Given the description of an element on the screen output the (x, y) to click on. 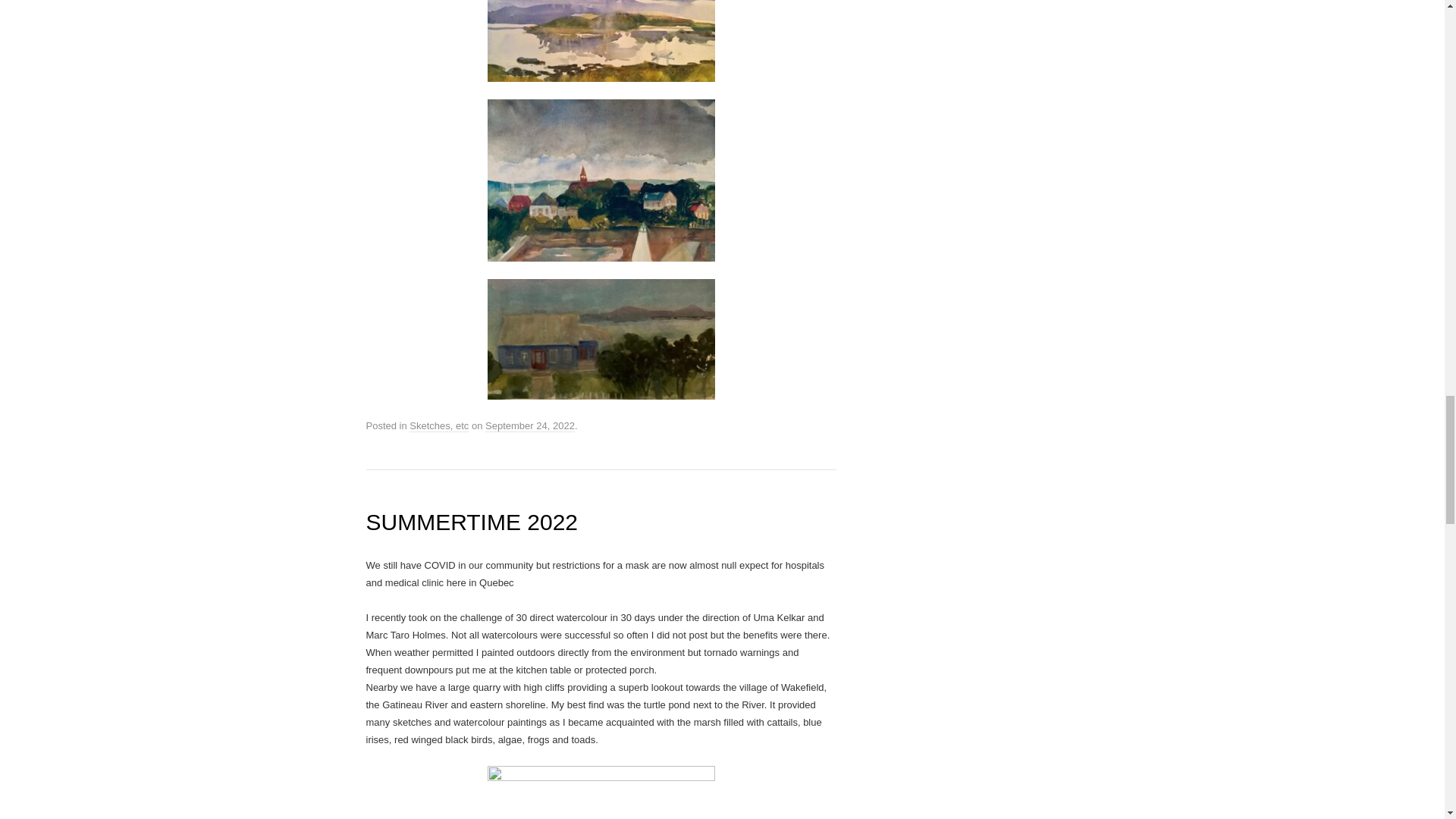
SUMMERTIME 2022 (471, 521)
8:04 am (529, 426)
Sketches, etc (438, 426)
September 24, 2022 (529, 426)
